Given the description of an element on the screen output the (x, y) to click on. 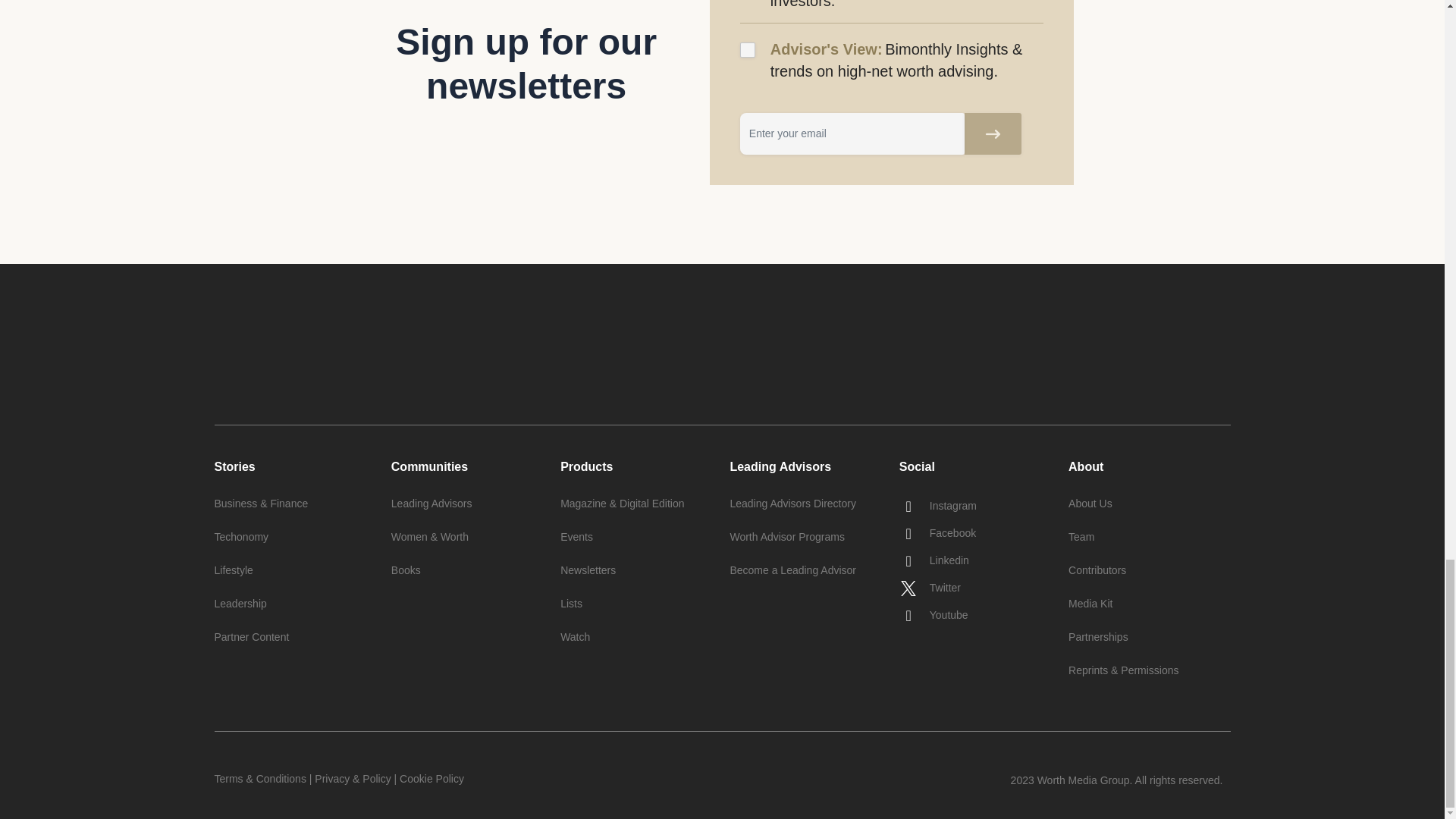
yes (747, 49)
